Given the description of an element on the screen output the (x, y) to click on. 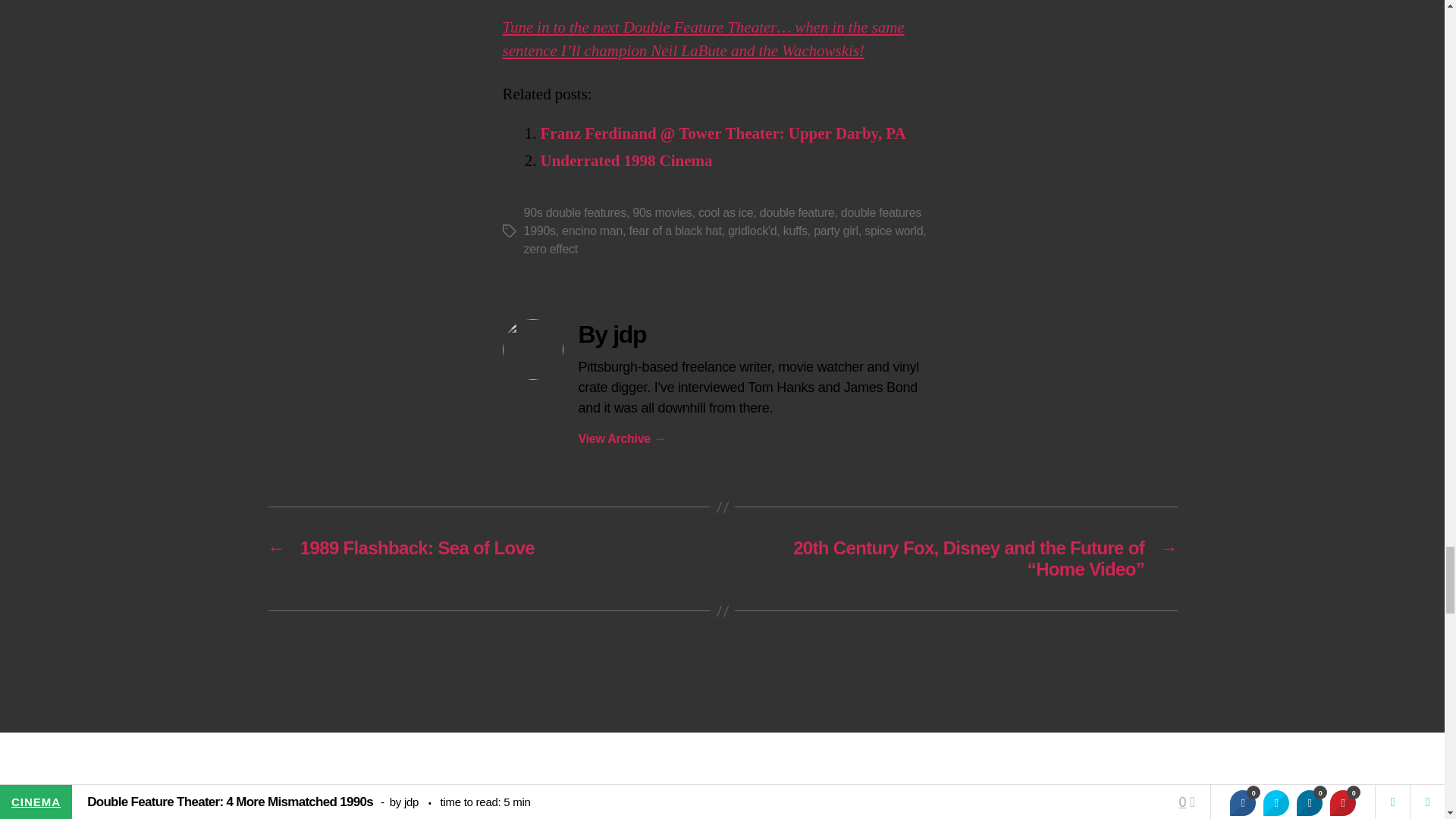
cool as ice (726, 212)
90s movies (661, 212)
Underrated 1998 Cinema (625, 160)
double feature (797, 212)
double features 1990s (721, 221)
90s double features (574, 212)
Underrated 1998 Cinema (625, 160)
